Given the description of an element on the screen output the (x, y) to click on. 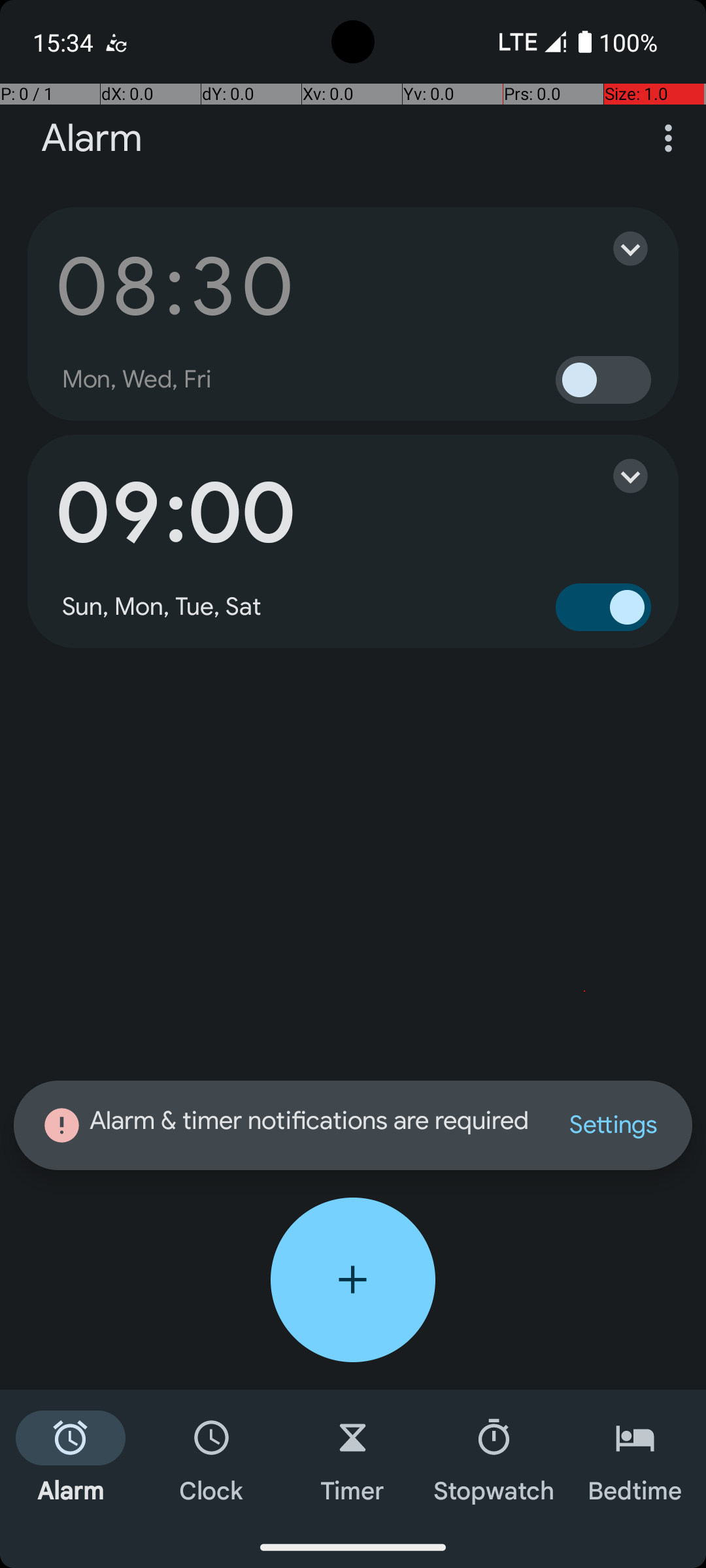
Mon, Wed, Fri Element type: android.widget.TextView (136, 379)
Sun, Mon, Tue, Sat Element type: android.widget.TextView (161, 606)
Alarm & timer notifications are required Element type: android.widget.TextView (287, 1125)
